Given the description of an element on the screen output the (x, y) to click on. 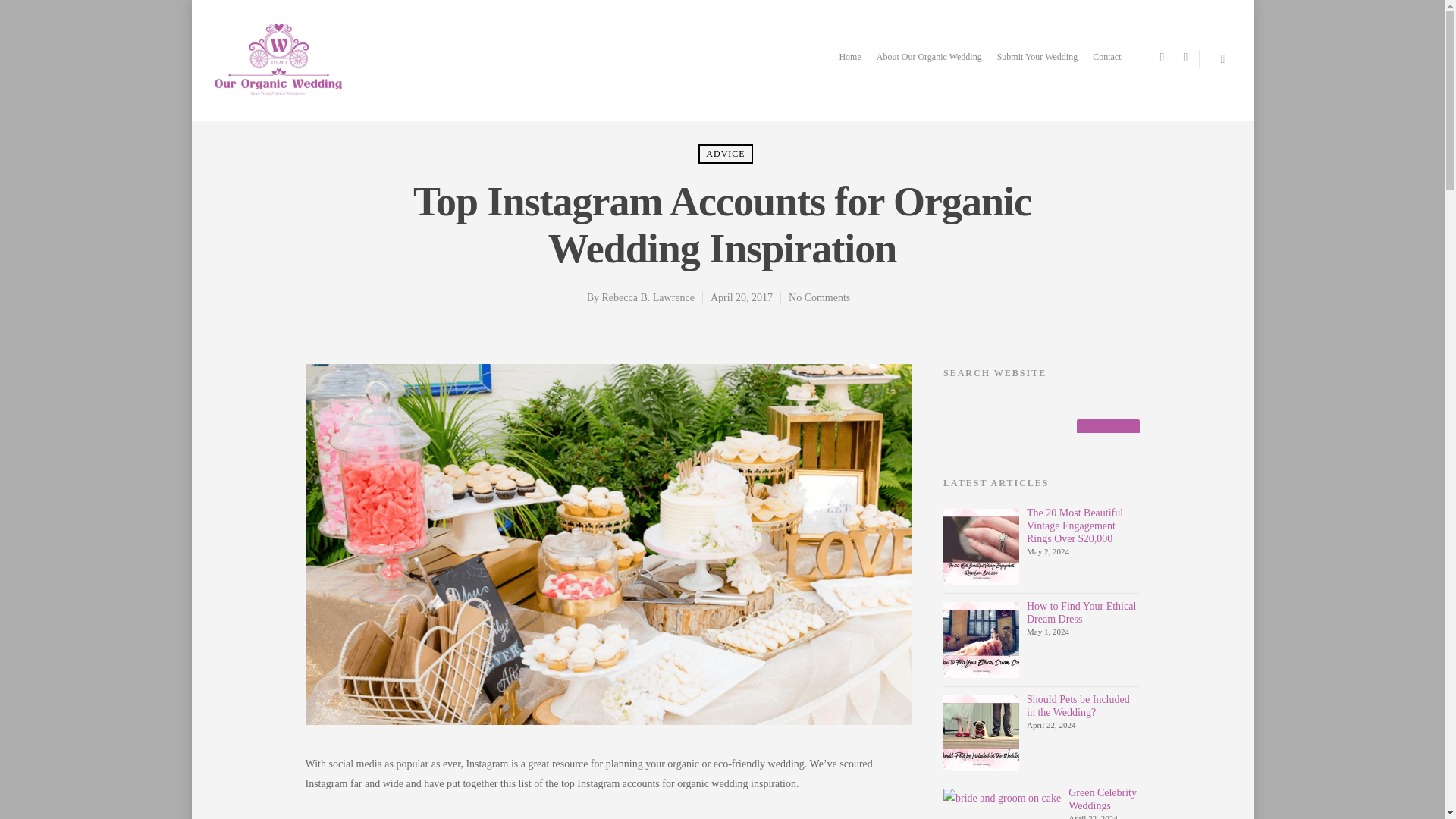
ADVICE (725, 153)
Posts by Rebecca B. Lawrence (648, 297)
Rebecca B. Lawrence (648, 297)
Search for: (1041, 414)
Search (1107, 438)
Should Pets be Included in the Wedding? (1077, 705)
How to Find Your Ethical Dream Dress (981, 639)
Search (1107, 438)
How to Find Your Ethical Dream Dress (1080, 612)
No Comments (819, 297)
Green Celebrity Weddings (1102, 799)
About Our Organic Wedding (928, 70)
Search (1107, 438)
